Given the description of an element on the screen output the (x, y) to click on. 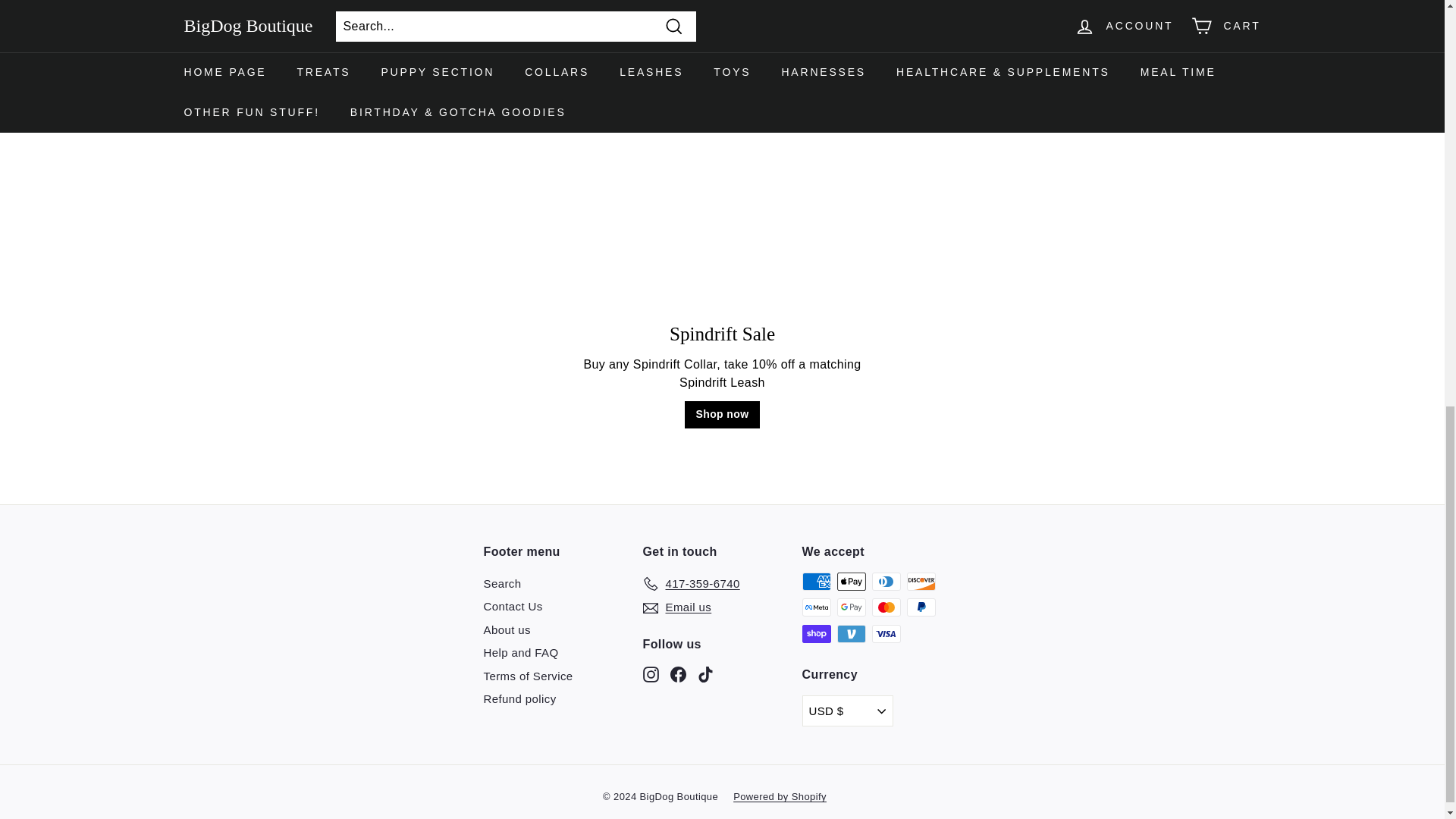
Apple Pay (851, 581)
American Express (816, 581)
BigDog Boutique on Instagram (651, 673)
BigDog Boutique on Facebook (677, 673)
Discover (921, 581)
BigDog Boutique on TikTok (705, 673)
Diners Club (886, 581)
